Given the description of an element on the screen output the (x, y) to click on. 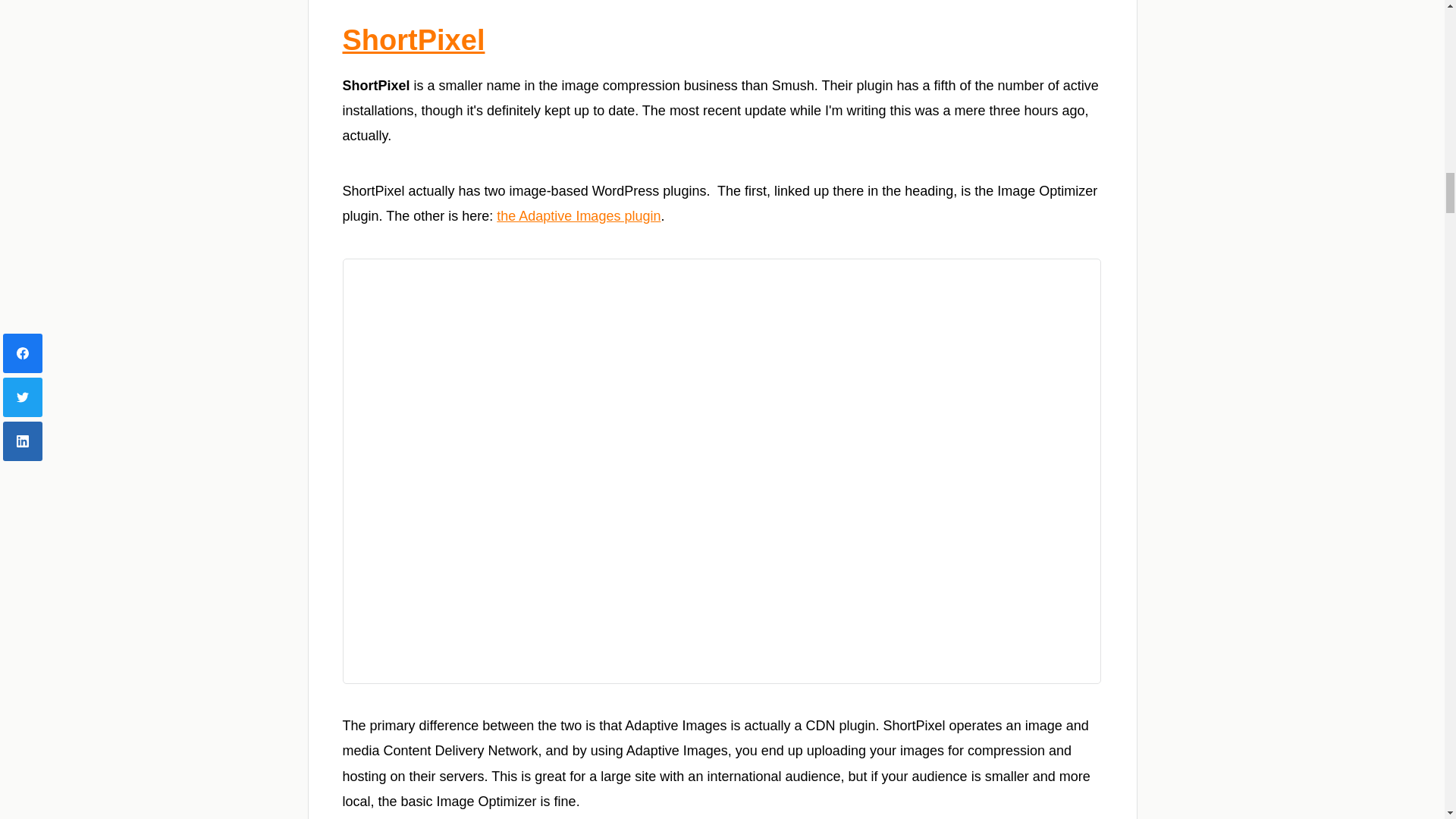
ShortPixel (413, 40)
the Adaptive Images plugin (578, 215)
